Given the description of an element on the screen output the (x, y) to click on. 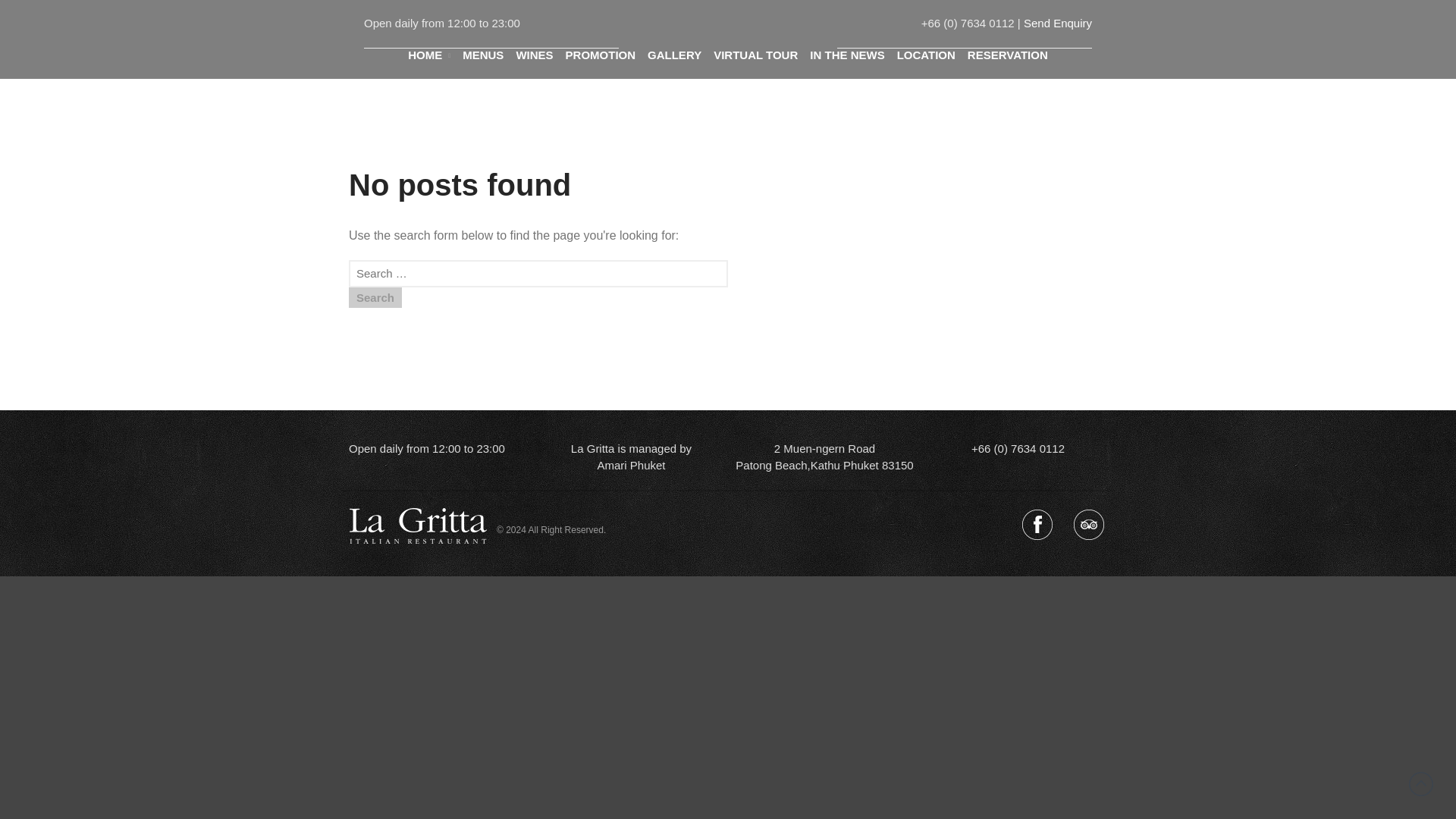
LOCATION (925, 54)
Search (375, 297)
Search (1368, 335)
VIRTUAL TOUR (755, 54)
WINES (534, 54)
GALLERY (674, 54)
VIRTUAL TOUR (755, 54)
Search (375, 297)
MENUS (483, 54)
facebook (1037, 524)
La Gritta - Italian Restaurant (819, 42)
Tripadvisor (1088, 524)
Send Enquiry (1057, 22)
HOME (428, 54)
IN THE NEWS (846, 54)
